Given the description of an element on the screen output the (x, y) to click on. 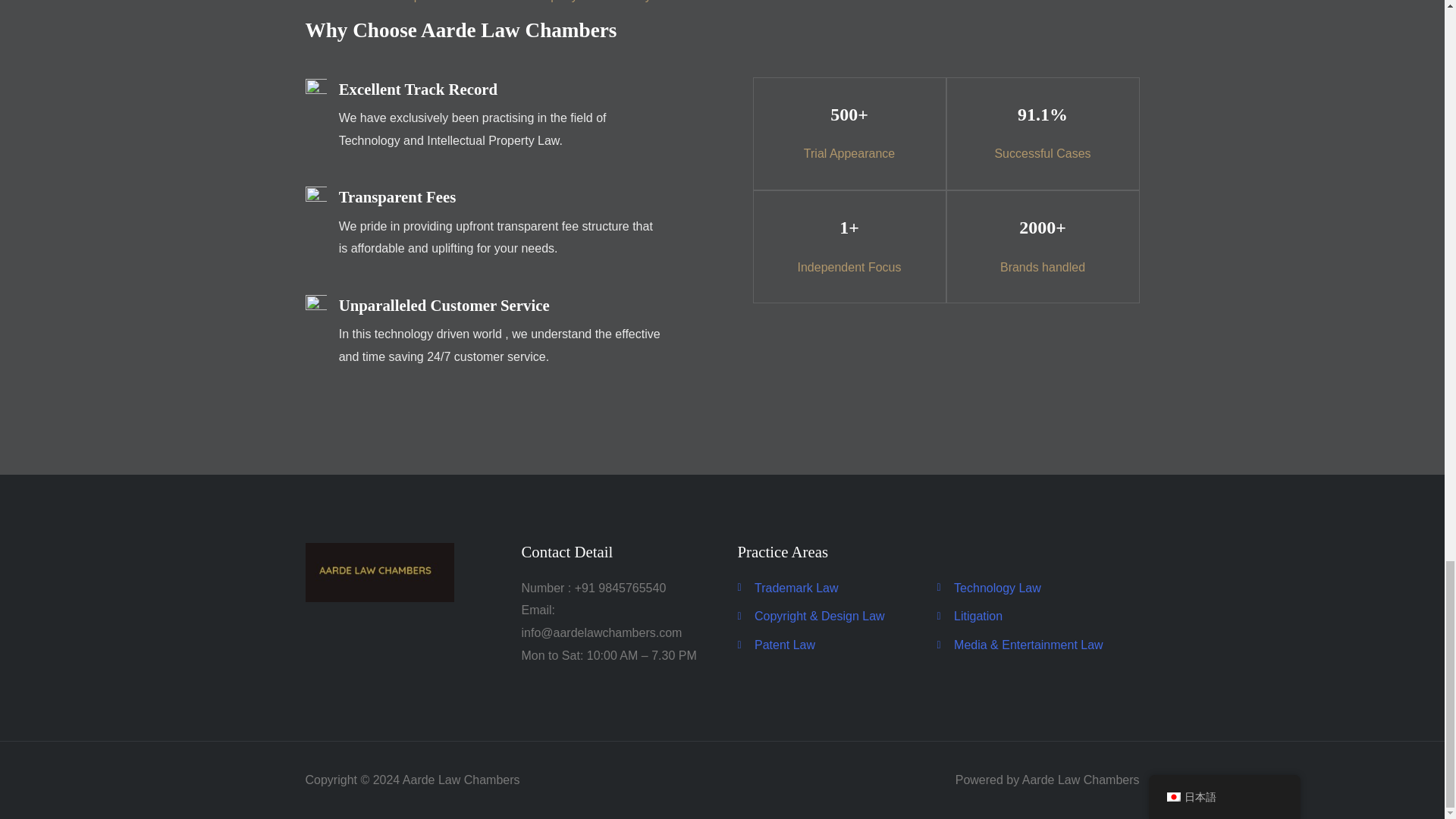
Trademark Law (836, 588)
Patent Law (836, 644)
Technology Law (1037, 588)
Litigation (1037, 616)
